Given the description of an element on the screen output the (x, y) to click on. 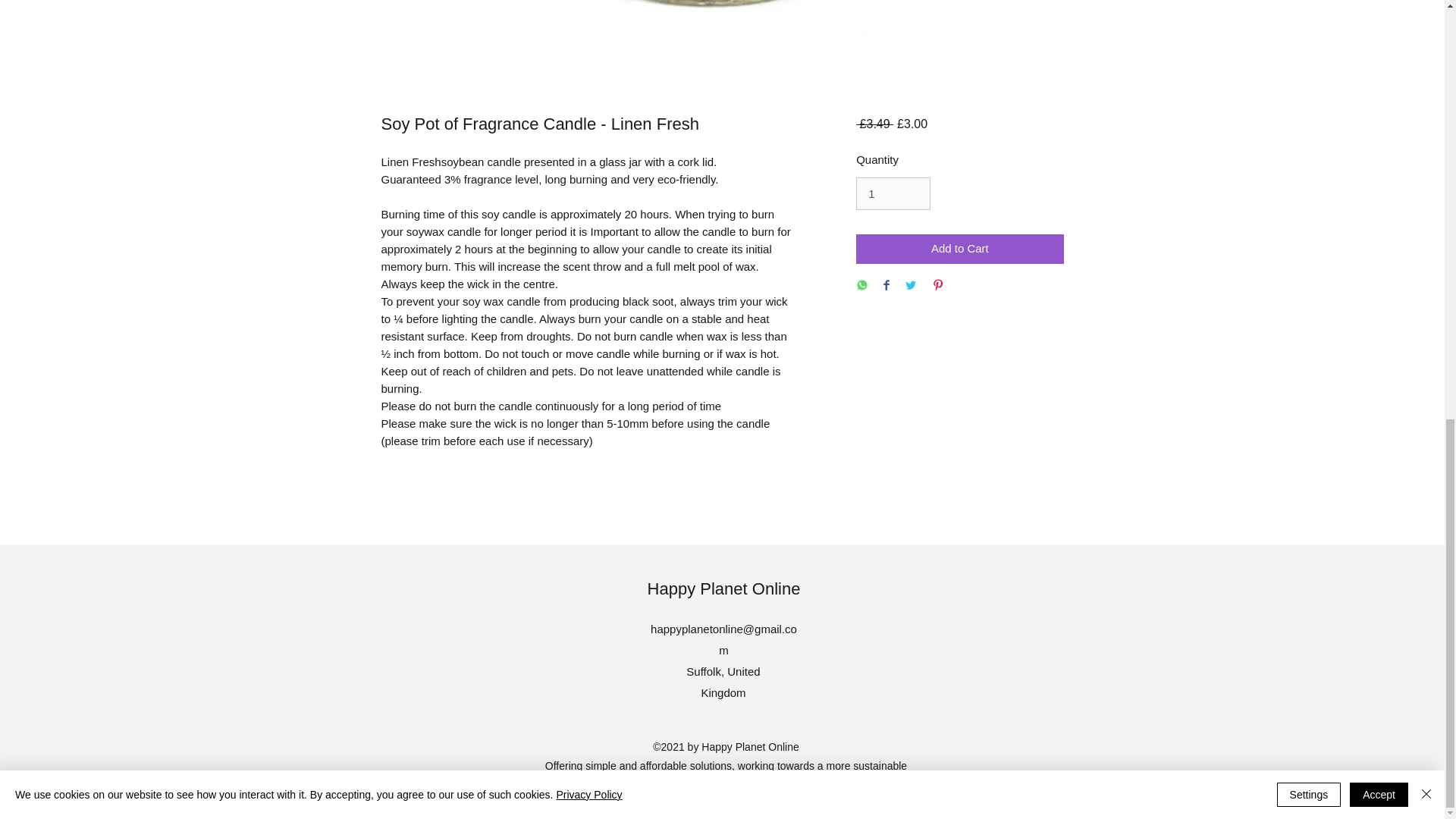
Happy Planet Online (723, 588)
Add to Cart (959, 248)
1 (893, 193)
